Given the description of an element on the screen output the (x, y) to click on. 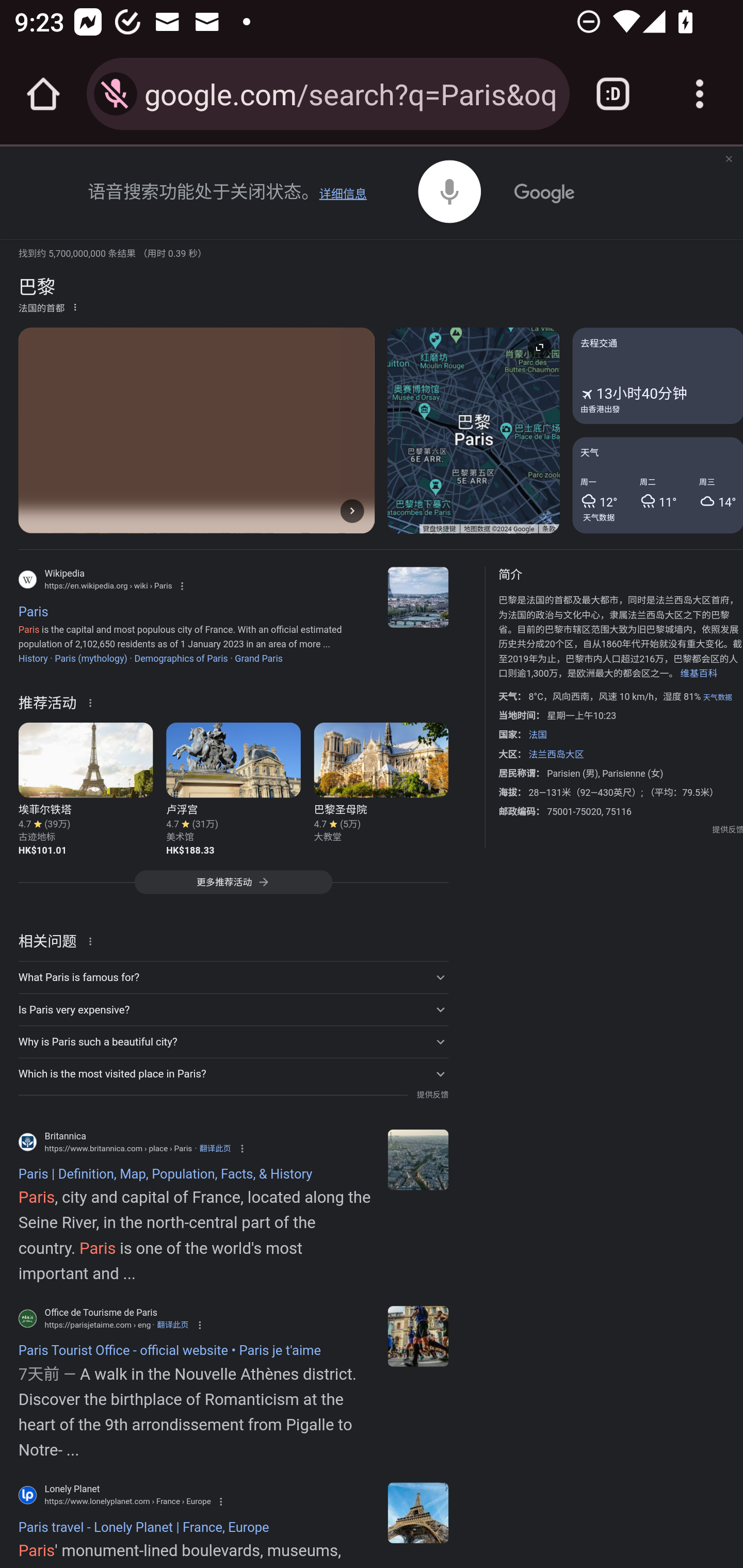
Open the home page (43, 93)
Connection is secure (115, 93)
Switch or close tabs (612, 93)
Customize and control Google Chrome (699, 93)
关闭 (727, 159)
详细信息 (342, 194)
更多选项 (74, 306)
去程交通 13小时40分钟 乘坐飞机 由香港出發 (657, 375)
展开地图 (539, 346)
天气 周一 高温 12 度 周二 高温 11 度 周三 高温 14 度 (657, 484)
下一张图片 (352, 510)
天气数据 (599, 516)
Paris (417, 597)
History (32, 658)
Paris (mythology) (90, 658)
Demographics of Paris (180, 658)
Grand Paris (258, 658)
维基百科 (697, 672)
天气数据 (717, 697)
关于这条结果的详细信息 (93, 701)
法国 (537, 734)
法兰西岛大区 (555, 753)
提供反馈 (727, 829)
更多推荐活动 (232, 887)
关于这条结果的详细信息 (93, 939)
What Paris is famous for? (232, 977)
Is Paris very expensive? (232, 1009)
Why is Paris such a beautiful city? (232, 1041)
Which is the most visited place in Paris? (232, 1072)
提供反馈 (432, 1094)
Paris (417, 1159)
翻译此页 (215, 1148)
eng (417, 1336)
翻译此页 (172, 1324)
paris (417, 1511)
